Given the description of an element on the screen output the (x, y) to click on. 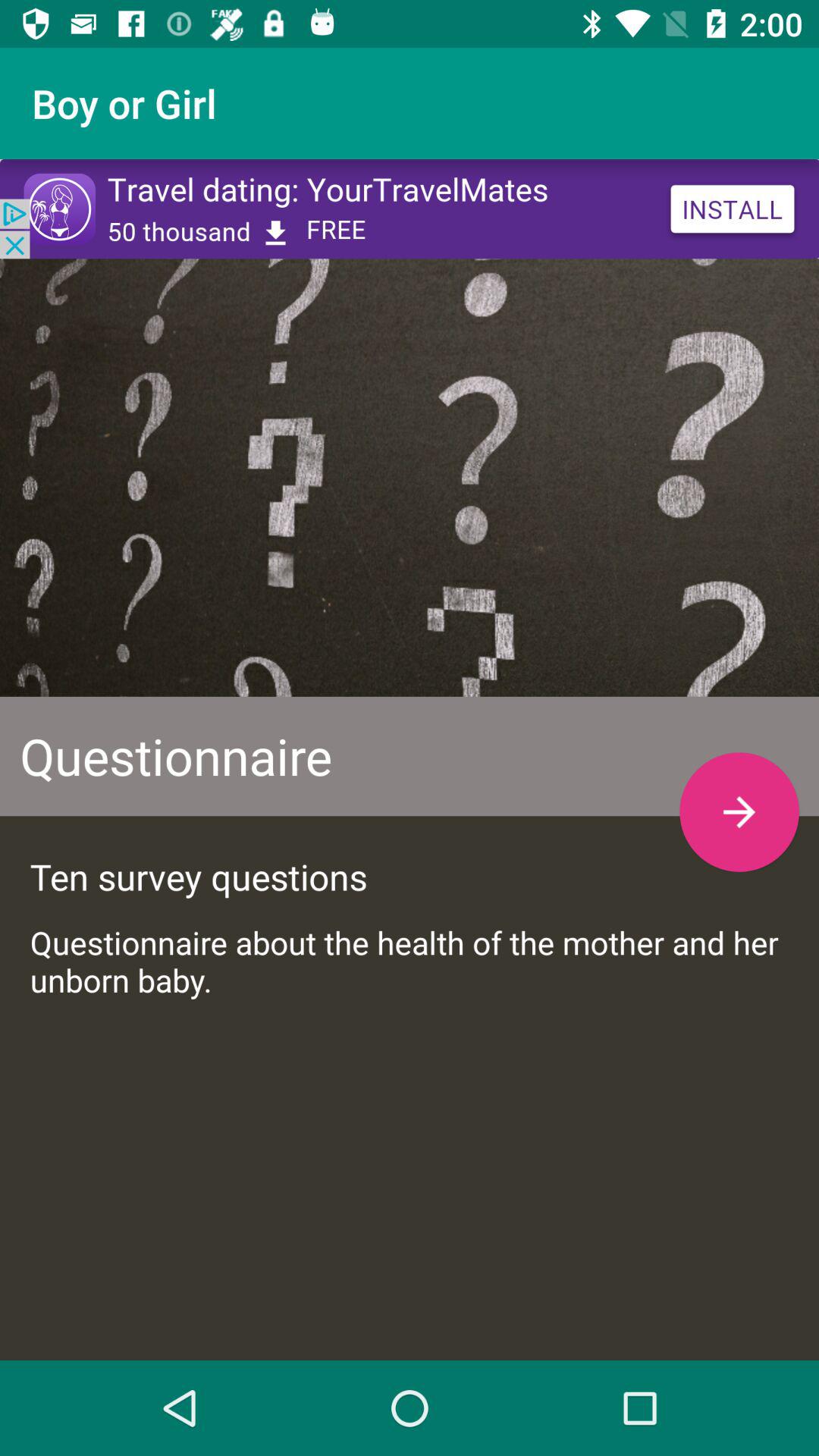
advertisement bar (409, 208)
